Given the description of an element on the screen output the (x, y) to click on. 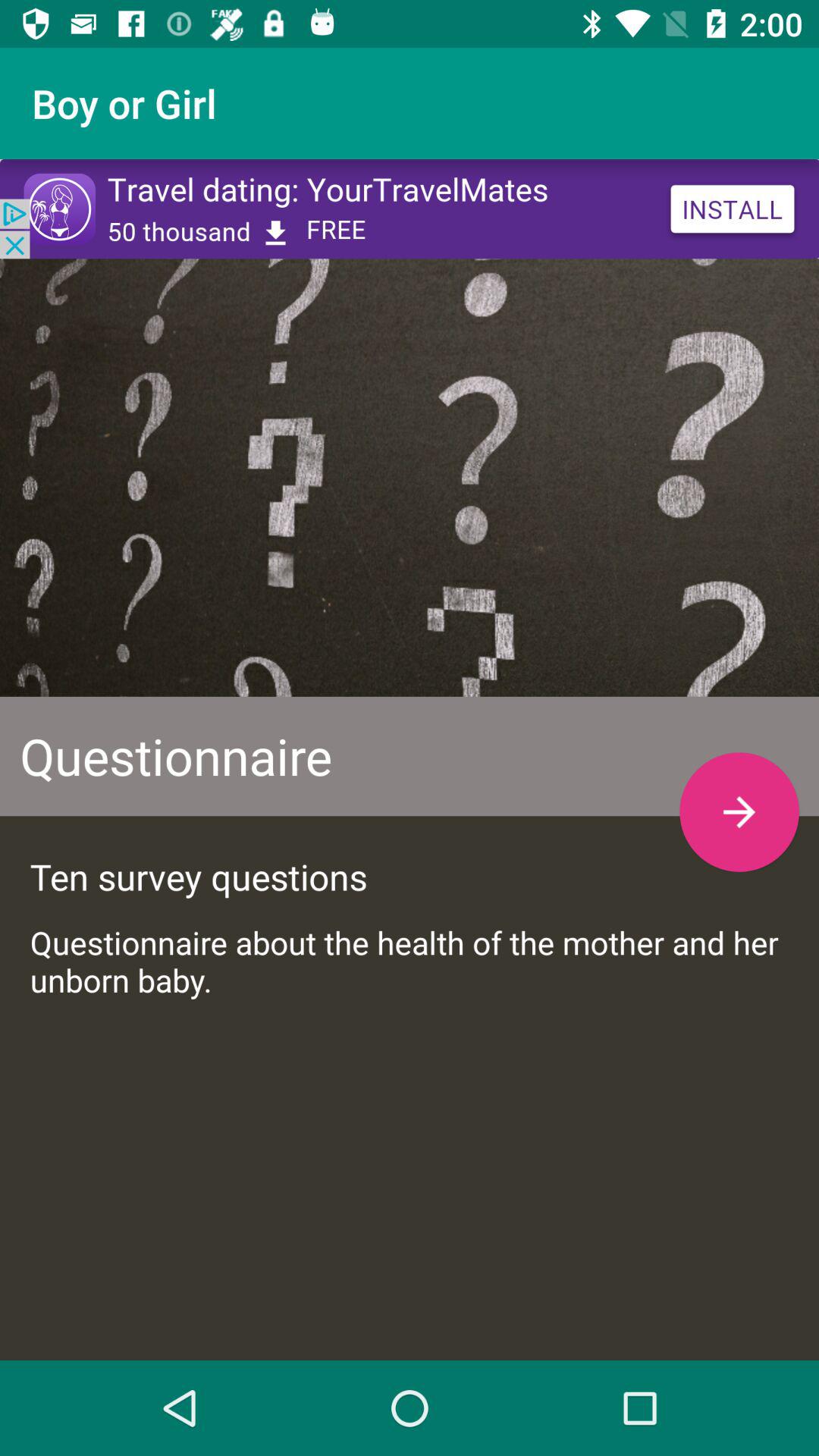
advertisement bar (409, 208)
